Given the description of an element on the screen output the (x, y) to click on. 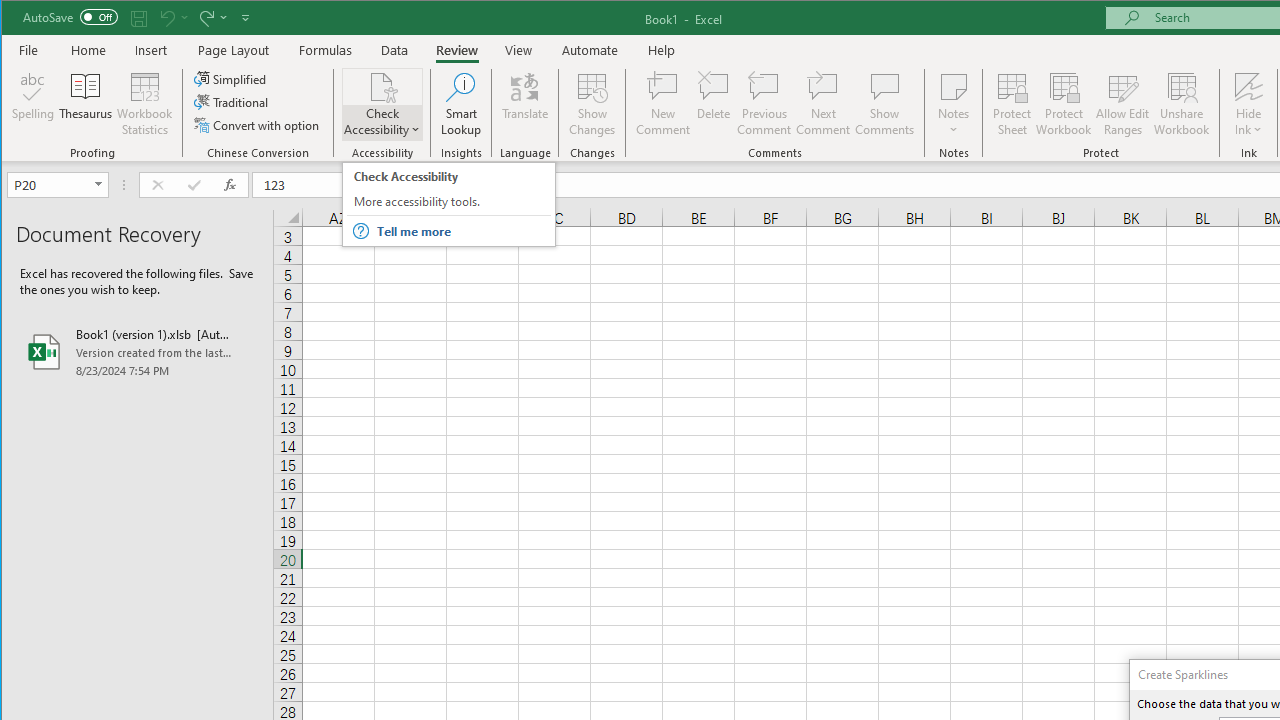
Show Comments (884, 104)
New Comment (662, 104)
Workbook Statistics (145, 104)
Delete (448, 204)
Show Changes (713, 104)
